Given the description of an element on the screen output the (x, y) to click on. 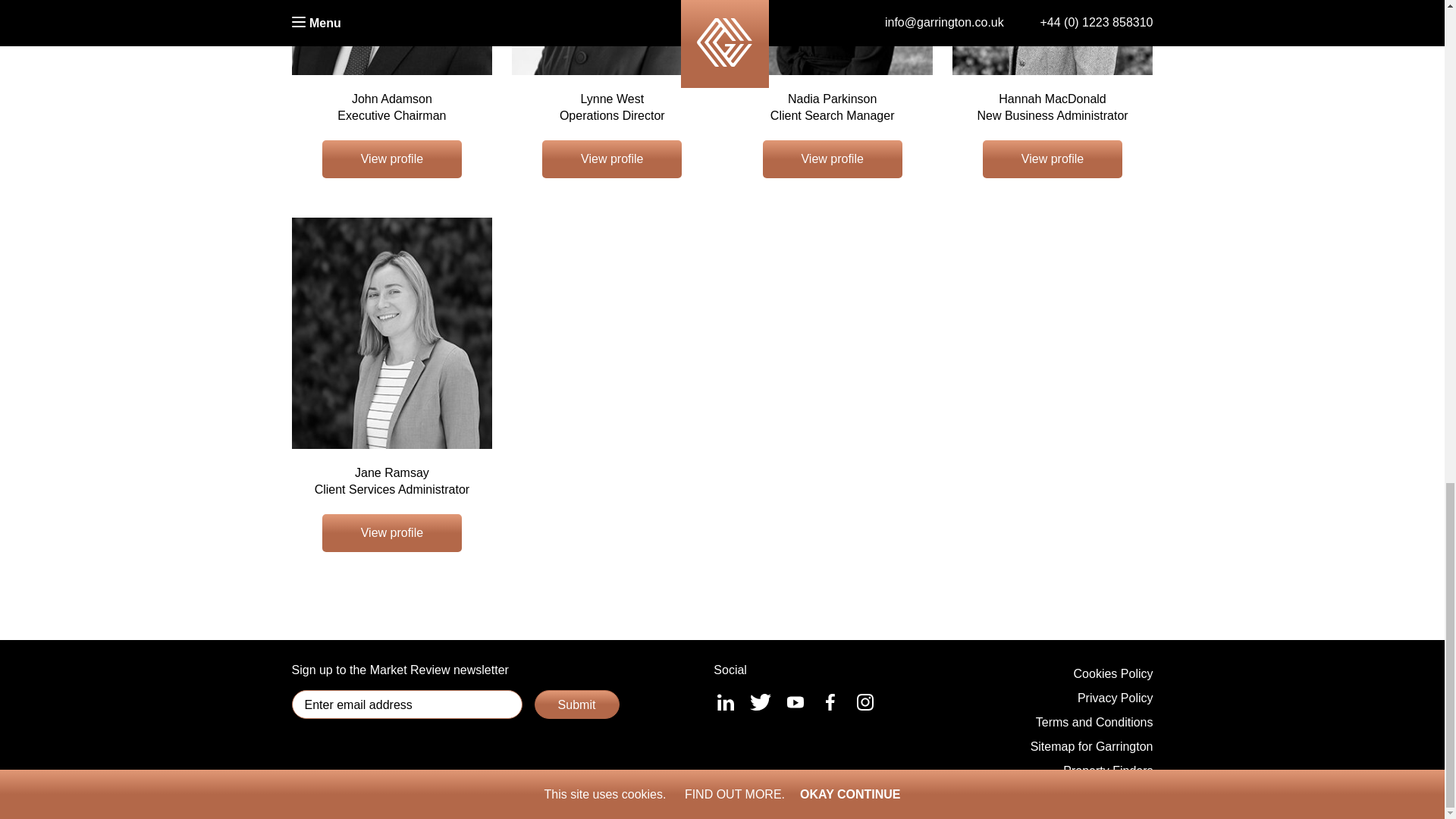
Find Garrington on Instagram (865, 702)
Garrington on Youtube (795, 702)
View profile (391, 533)
View profile (391, 159)
View profile (611, 159)
Find Garrington on Facebook (830, 702)
Follow Garrington on Twitter (760, 702)
Find Garrington on LinkedIn (725, 702)
View profile (832, 159)
View profile (1052, 159)
